Given the description of an element on the screen output the (x, y) to click on. 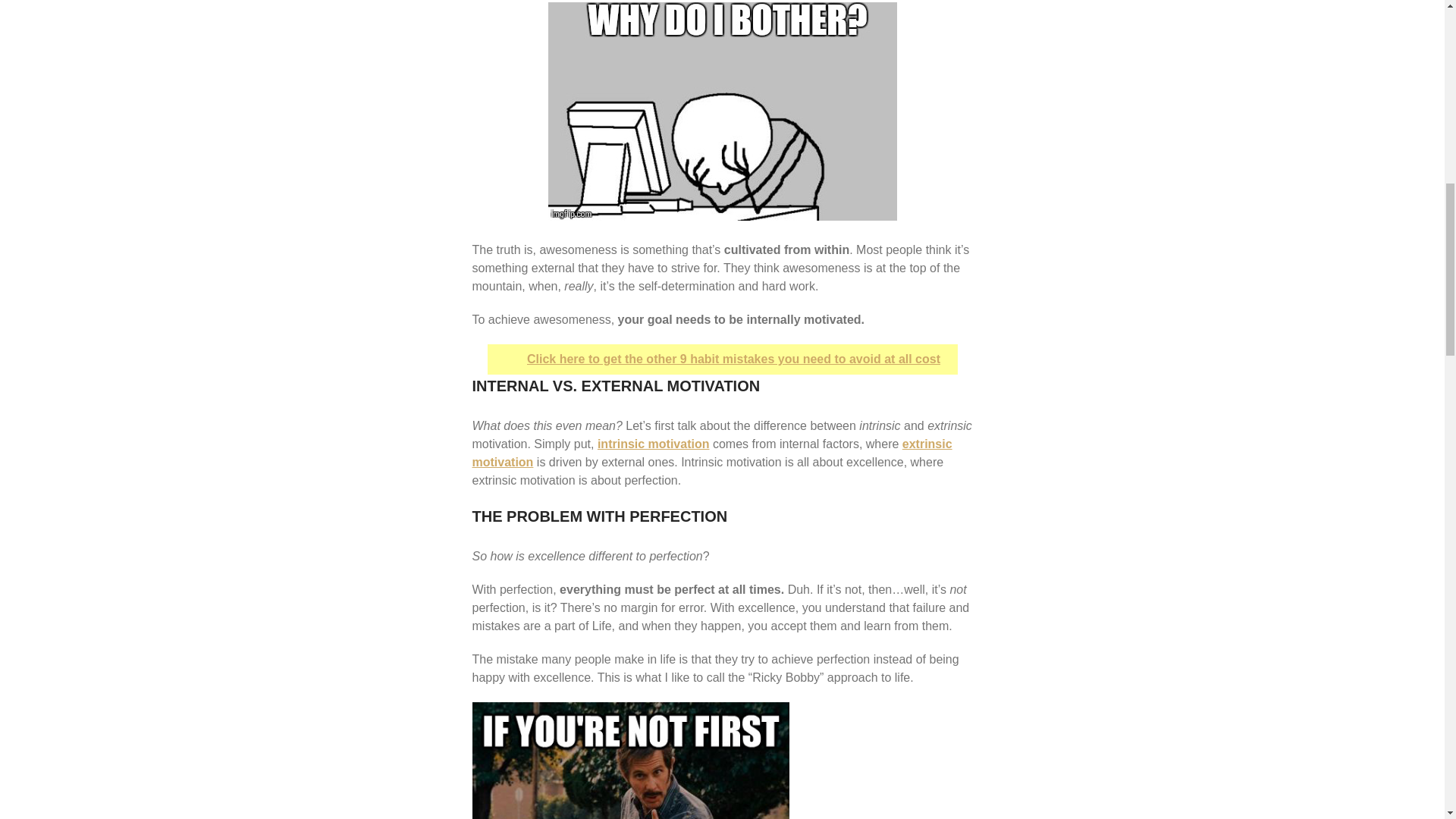
intrinsic motivation (653, 443)
extrinsic motivation (711, 452)
